Given the description of an element on the screen output the (x, y) to click on. 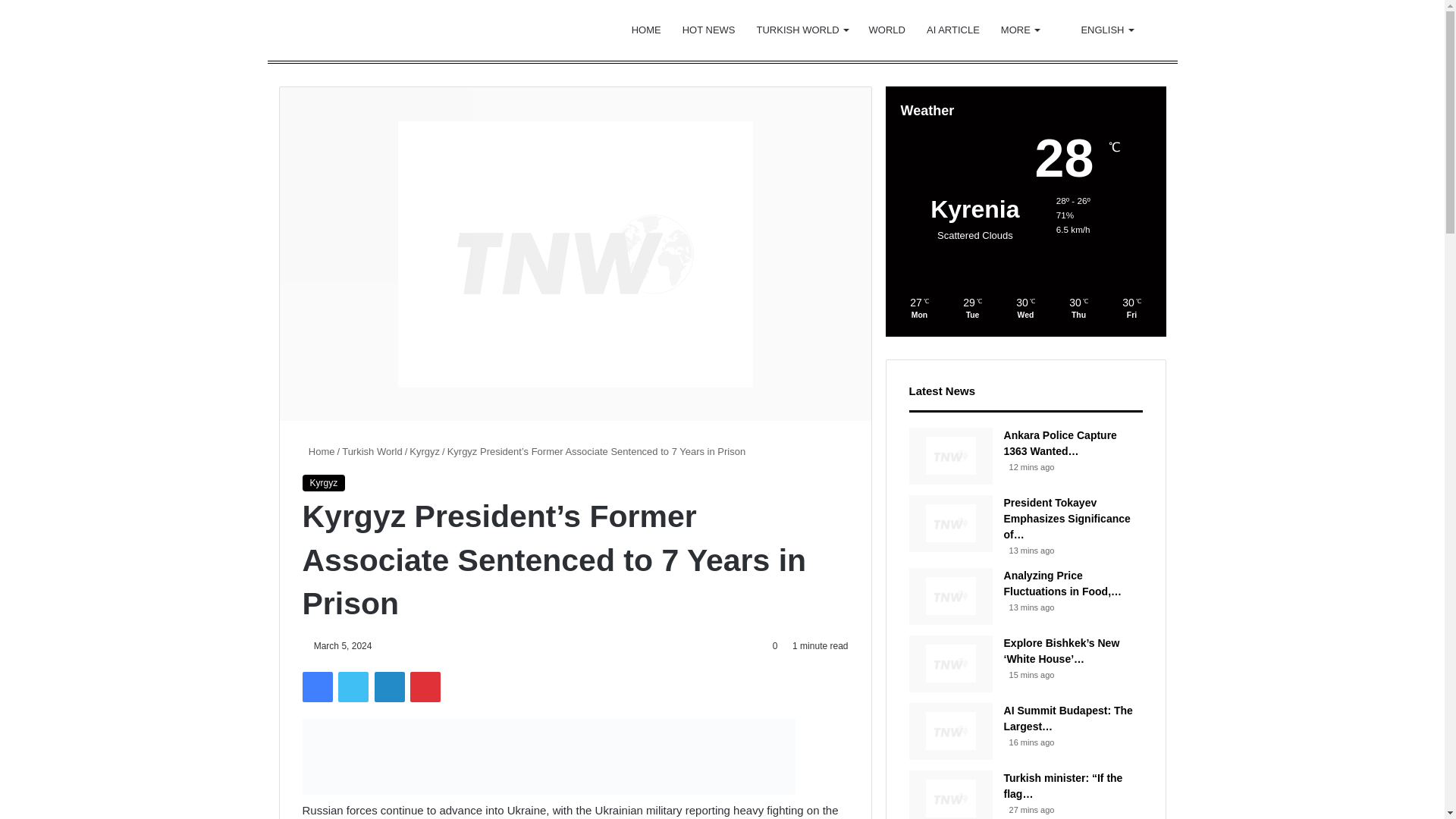
LinkedIn (389, 686)
MORE (1019, 30)
HOT NEWS (708, 30)
Facebook (316, 686)
Pinterest (425, 686)
WORLD (887, 30)
Twitter (352, 686)
ENGLISH (1095, 30)
AI ARTICLE (952, 30)
Home (317, 451)
